Given the description of an element on the screen output the (x, y) to click on. 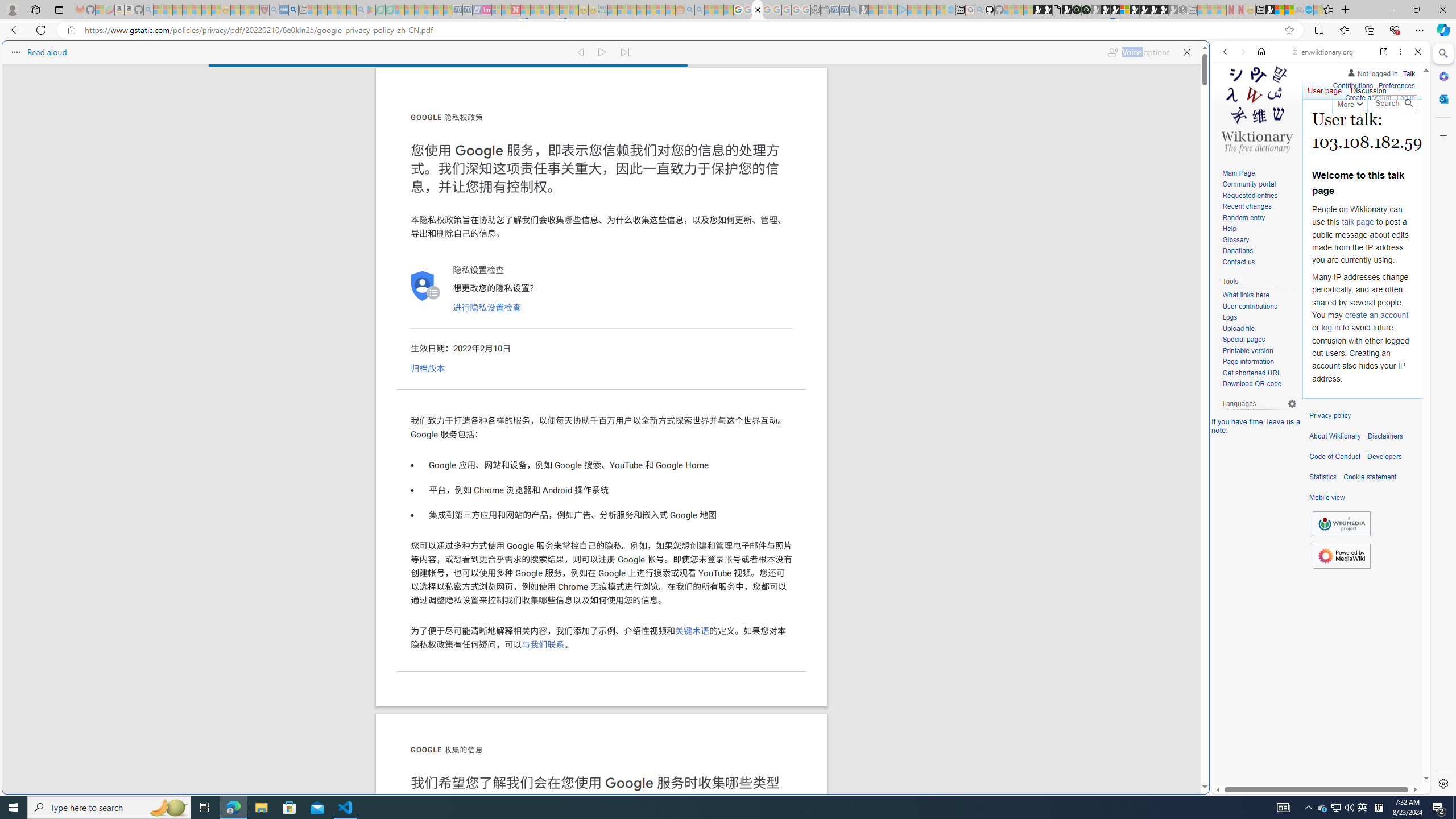
New Report Confirms 2023 Was Record Hot | Watch - Sleeping (196, 9)
Frequently visited (965, 151)
Sign in to your account (1124, 9)
Page information (1247, 361)
Donations (1237, 250)
If you have time, leave us a note. (1255, 425)
Glossary (1259, 240)
Main Page (1238, 172)
MSN (1118, 536)
Pets - MSN - Sleeping (340, 9)
